Given the description of an element on the screen output the (x, y) to click on. 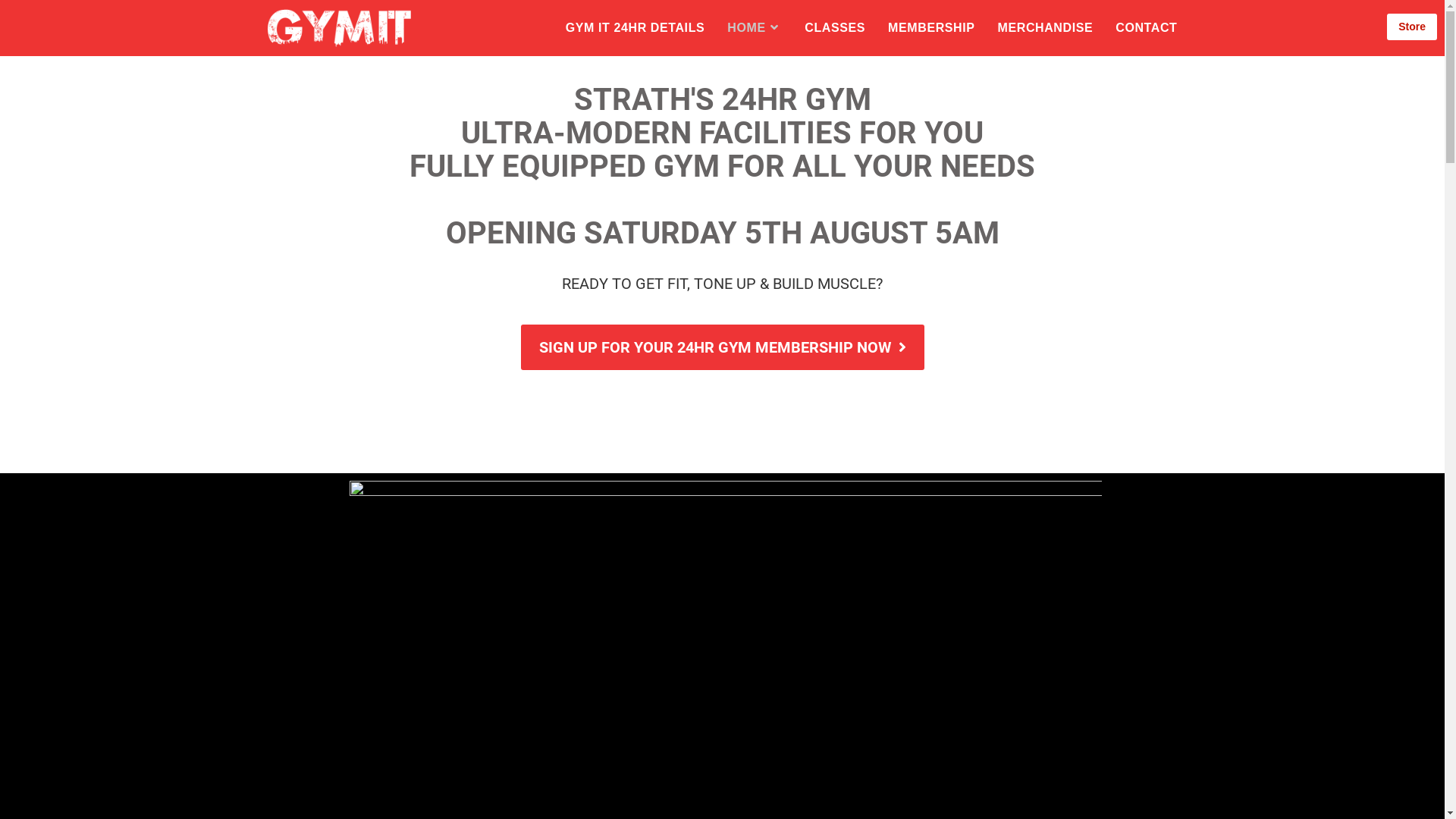
Store Element type: text (1411, 26)
HOME Element type: text (754, 28)
CLASSES Element type: text (834, 28)
SIGN UP FOR YOUR 24HR GYM MEMBERSHIP NOW Element type: text (721, 347)
CONTACT Element type: text (1146, 28)
MEMBERSHIP Element type: text (930, 28)
MERCHANDISE Element type: text (1045, 28)
GYM IT 24HR DETAILS Element type: text (635, 28)
